Given the description of an element on the screen output the (x, y) to click on. 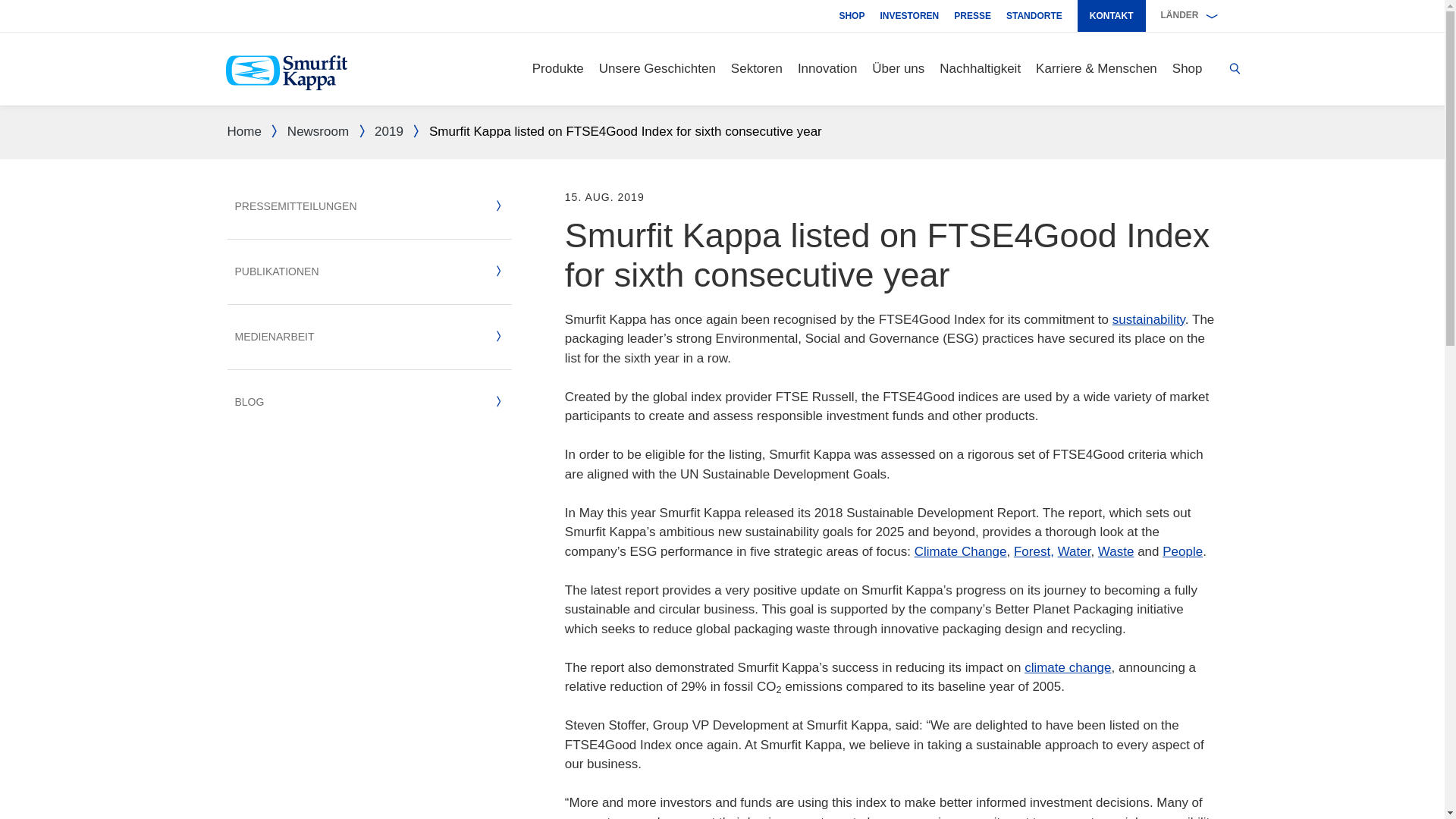
PRESSE (972, 15)
KONTAKT (1111, 15)
STANDORTE (1034, 15)
Sektoren (756, 69)
INVESTOREN (909, 15)
Unsere Geschichten (657, 69)
Produkte (557, 69)
